Given the description of an element on the screen output the (x, y) to click on. 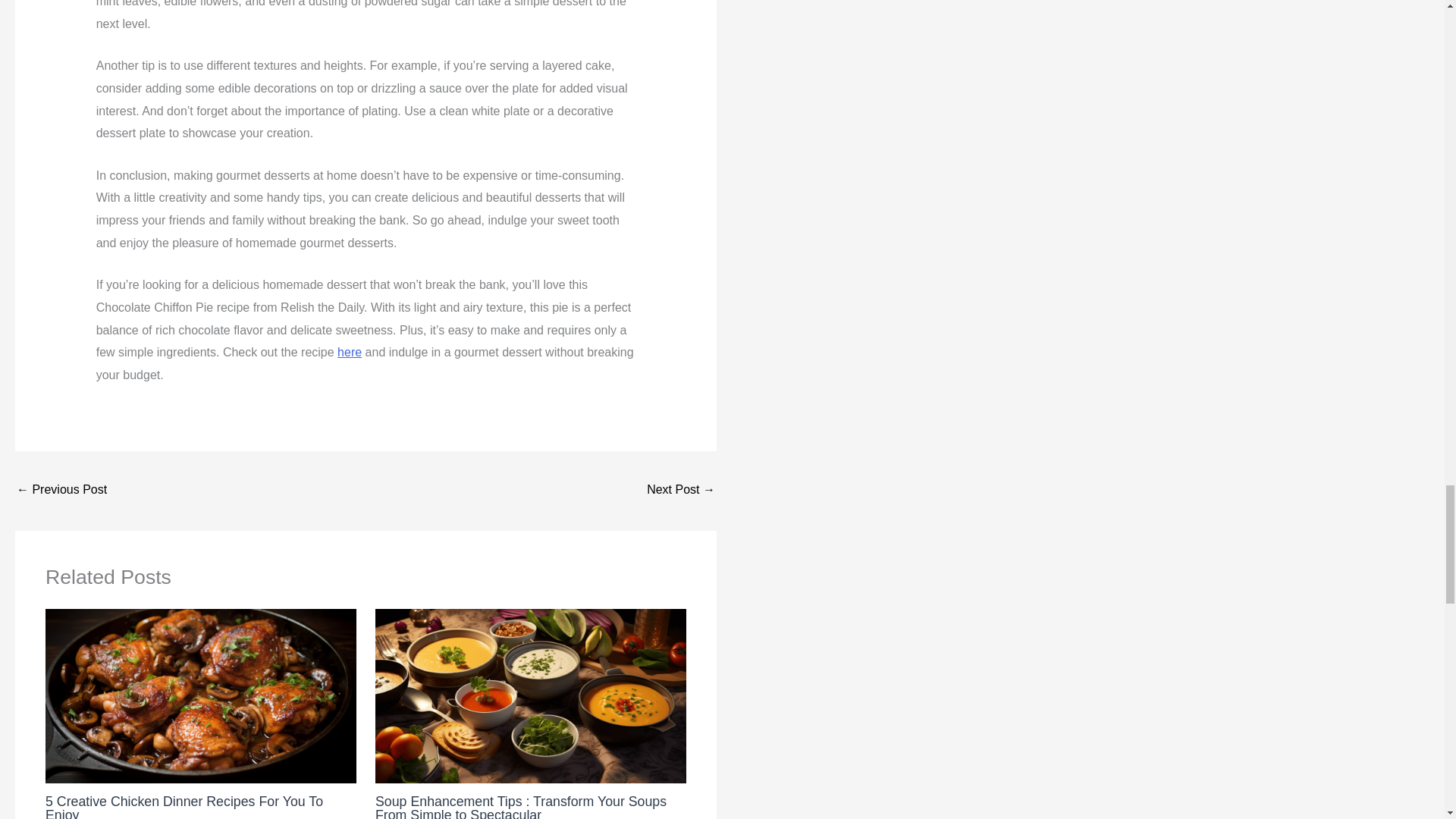
Taking Your Soups to the Next Level (680, 490)
